Given the description of an element on the screen output the (x, y) to click on. 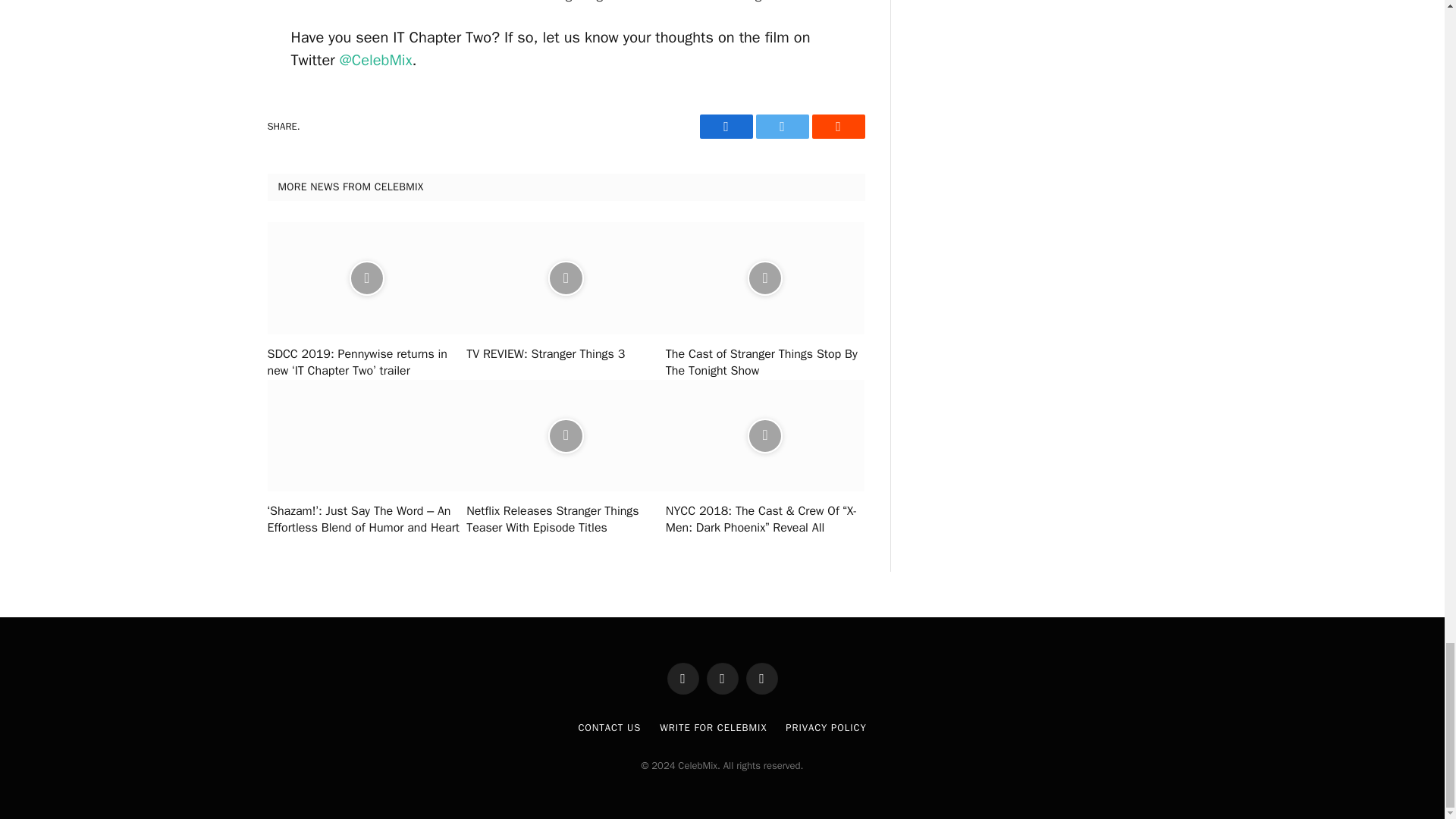
The Cast of Stranger Things Stop By The Tonight Show (764, 363)
Facebook (725, 126)
Twitter (781, 126)
Reddit (837, 126)
Netflix Releases Stranger Things Teaser With Episode Titles (565, 520)
TV REVIEW: Stranger Things 3 (565, 354)
Share on Facebook (725, 126)
